Given the description of an element on the screen output the (x, y) to click on. 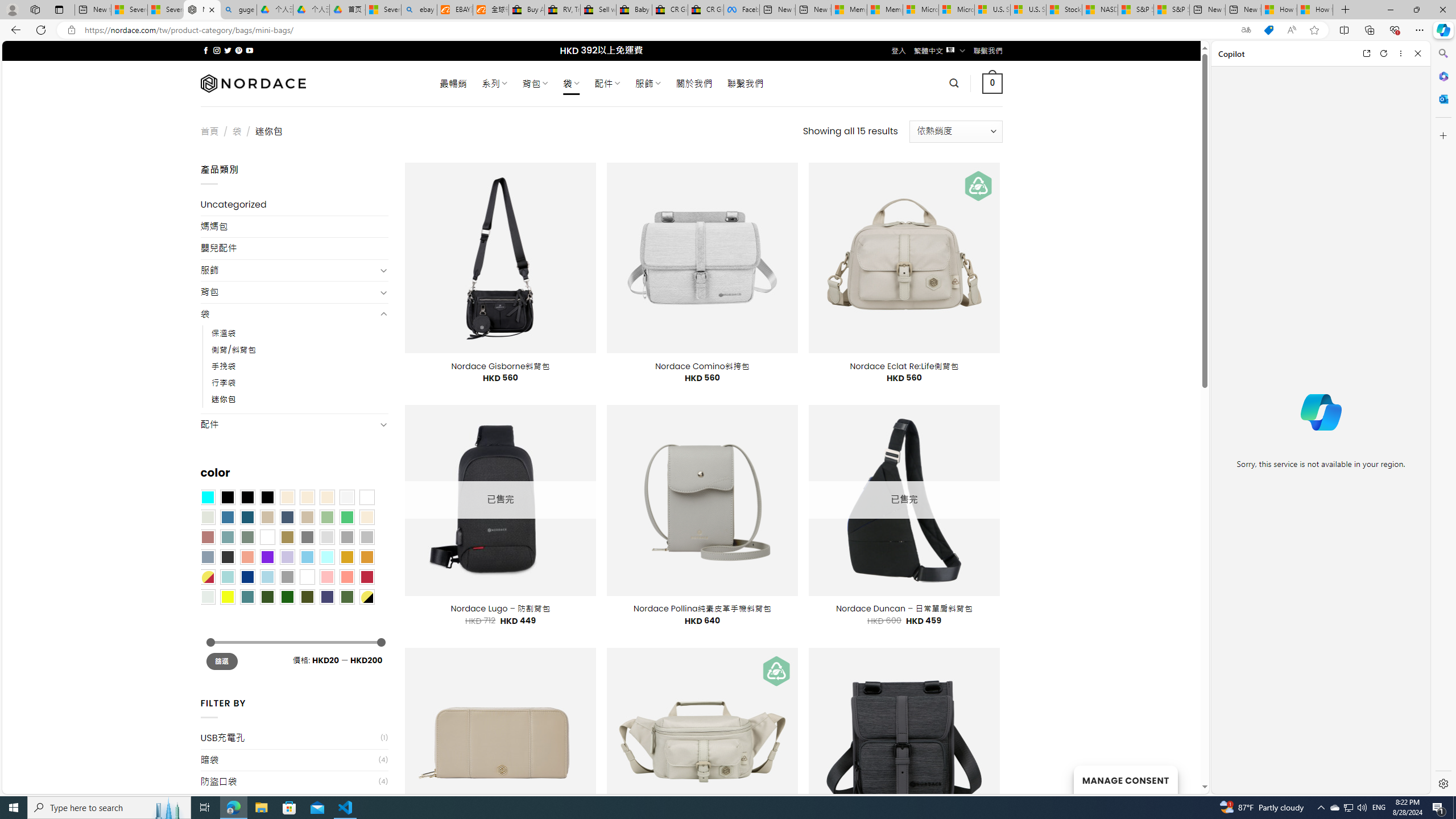
Baby Keepsakes & Announcements for sale | eBay (633, 9)
guge yunpan - Search (238, 9)
ebay - Search (419, 9)
Side bar (1443, 418)
